Given the description of an element on the screen output the (x, y) to click on. 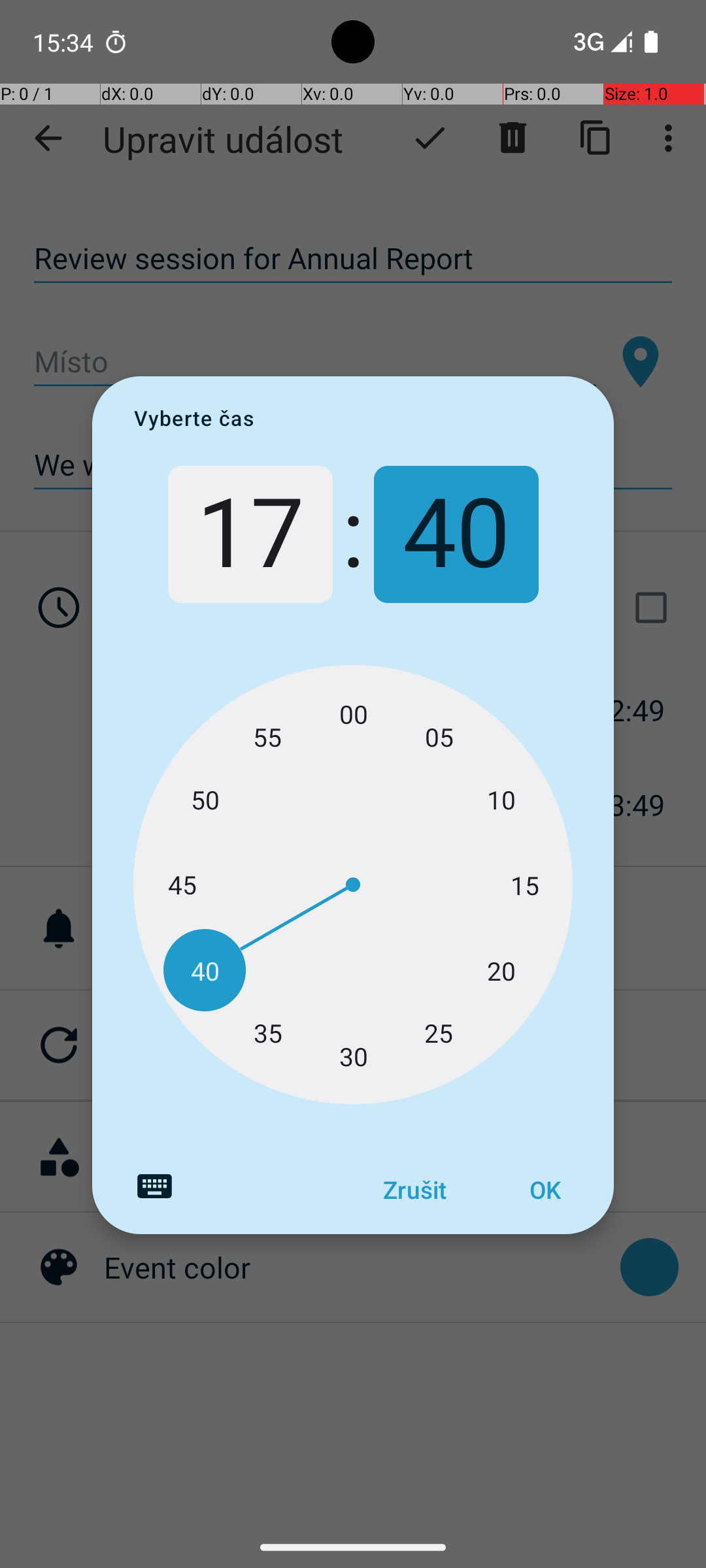
Chcete-li zadat čas, přepněte na režim textu. Element type: android.widget.Button (154, 1186)
